Given the description of an element on the screen output the (x, y) to click on. 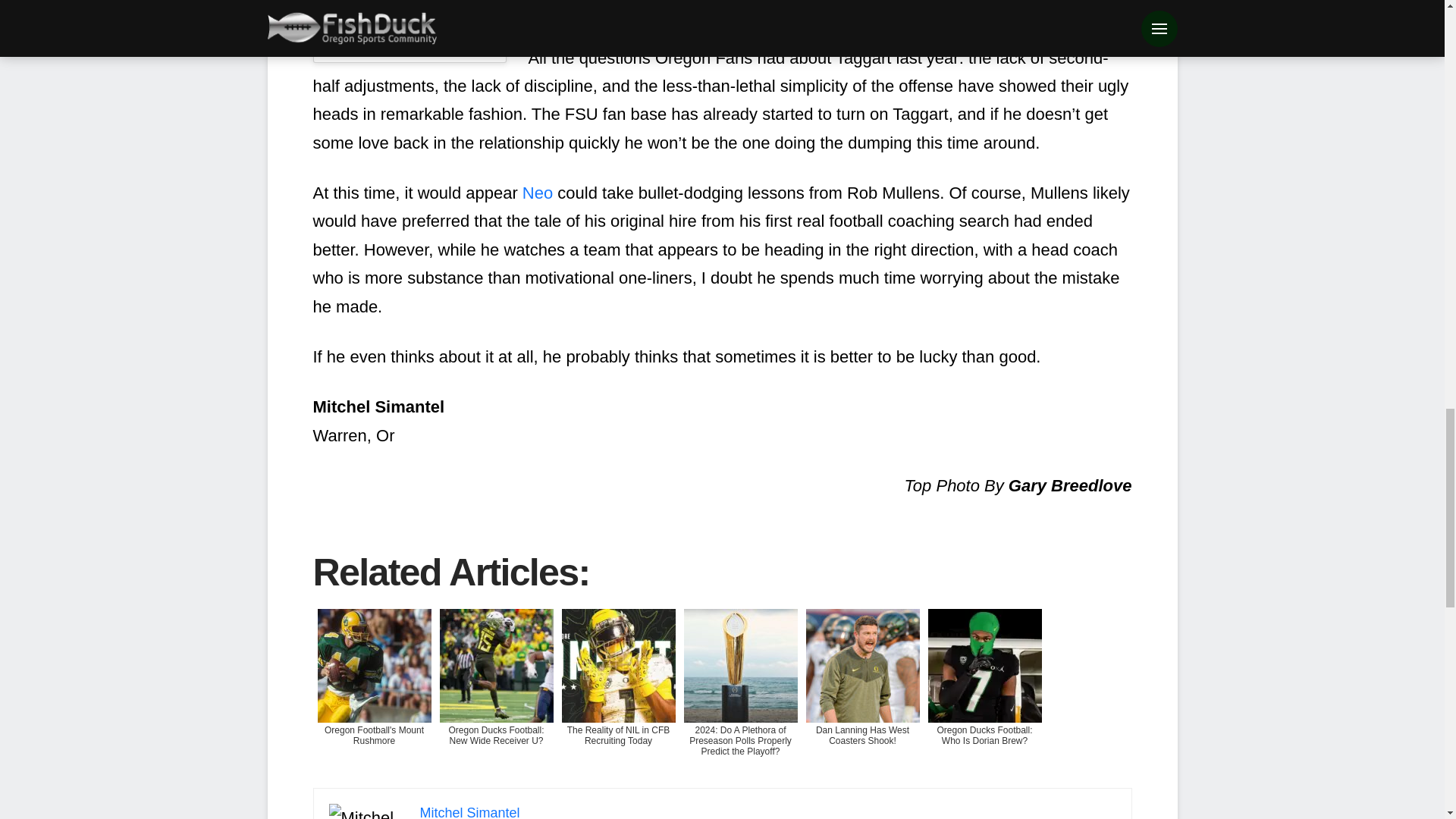
Neo (537, 192)
Mitchel Simantel (469, 812)
